Given the description of an element on the screen output the (x, y) to click on. 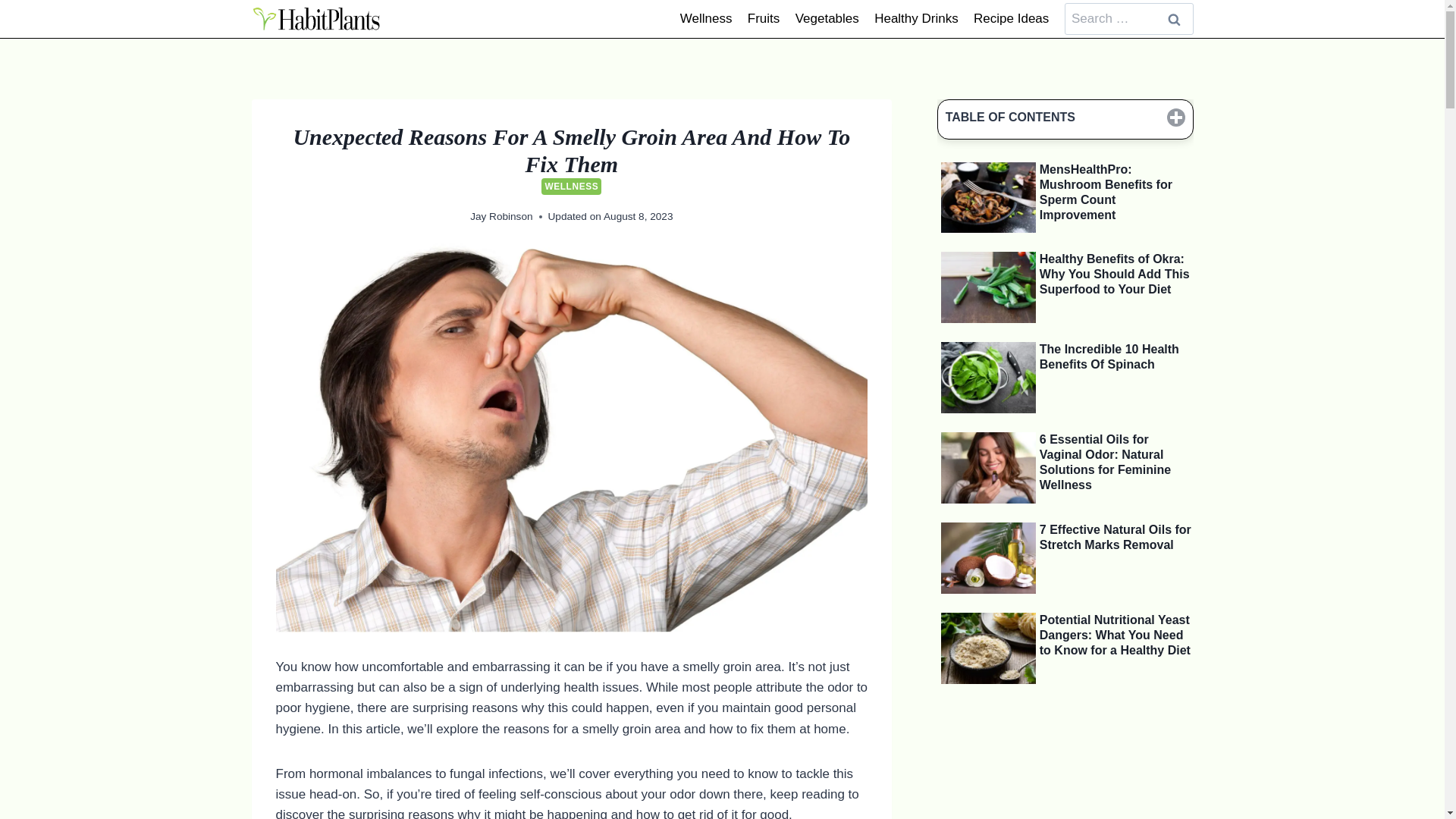
Vegetables (826, 18)
Search (1174, 19)
WELLNESS (571, 186)
Search (1174, 19)
Wellness (705, 18)
TABLE OF CONTENTS (1065, 119)
Jay Robinson (501, 215)
Recipe Ideas (1011, 18)
Search (1174, 19)
Fruits (763, 18)
Healthy Drinks (916, 18)
